Given the description of an element on the screen output the (x, y) to click on. 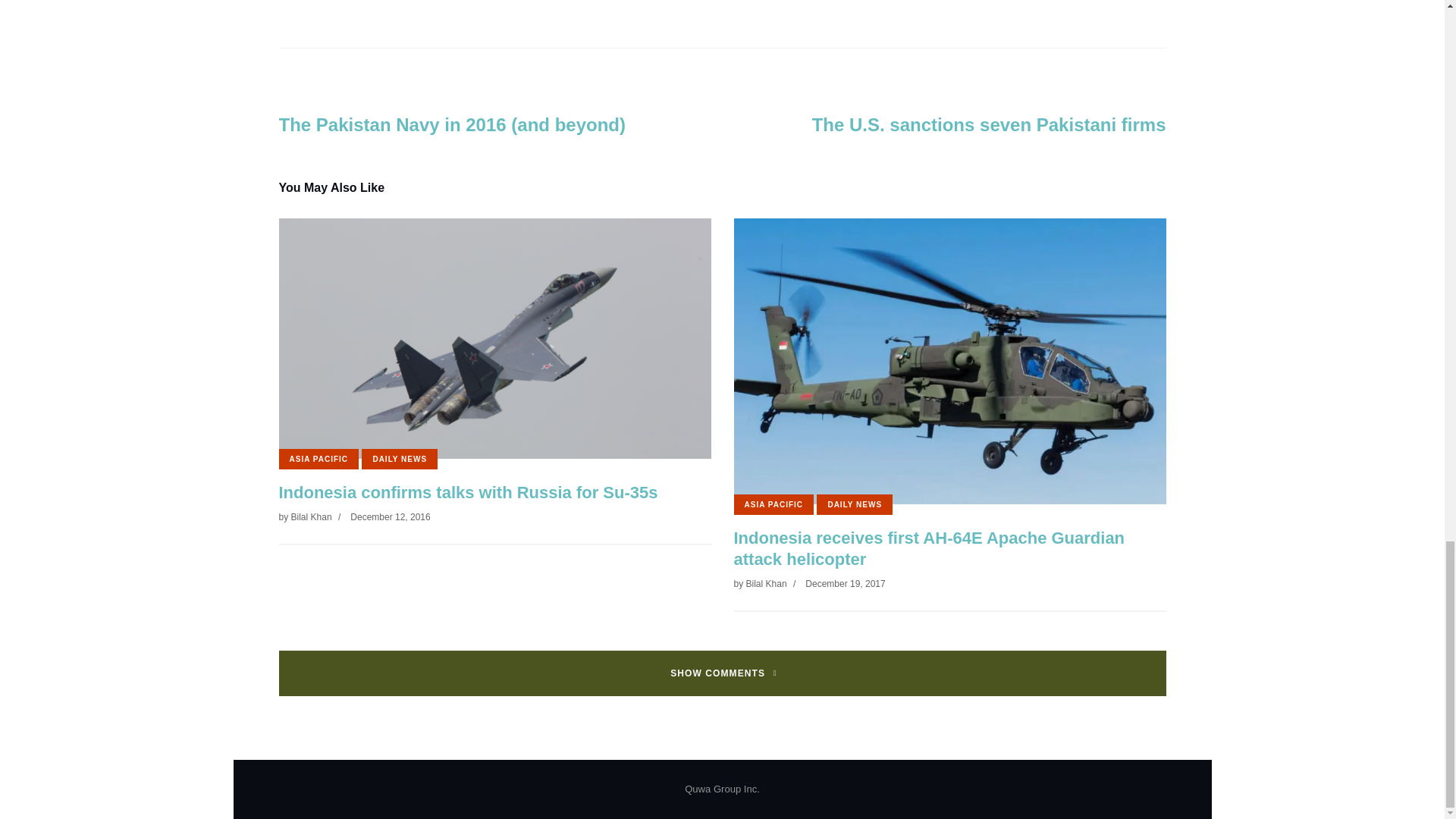
DAILY NEWS (399, 457)
ASIA PACIFIC (319, 457)
